Given the description of an element on the screen output the (x, y) to click on. 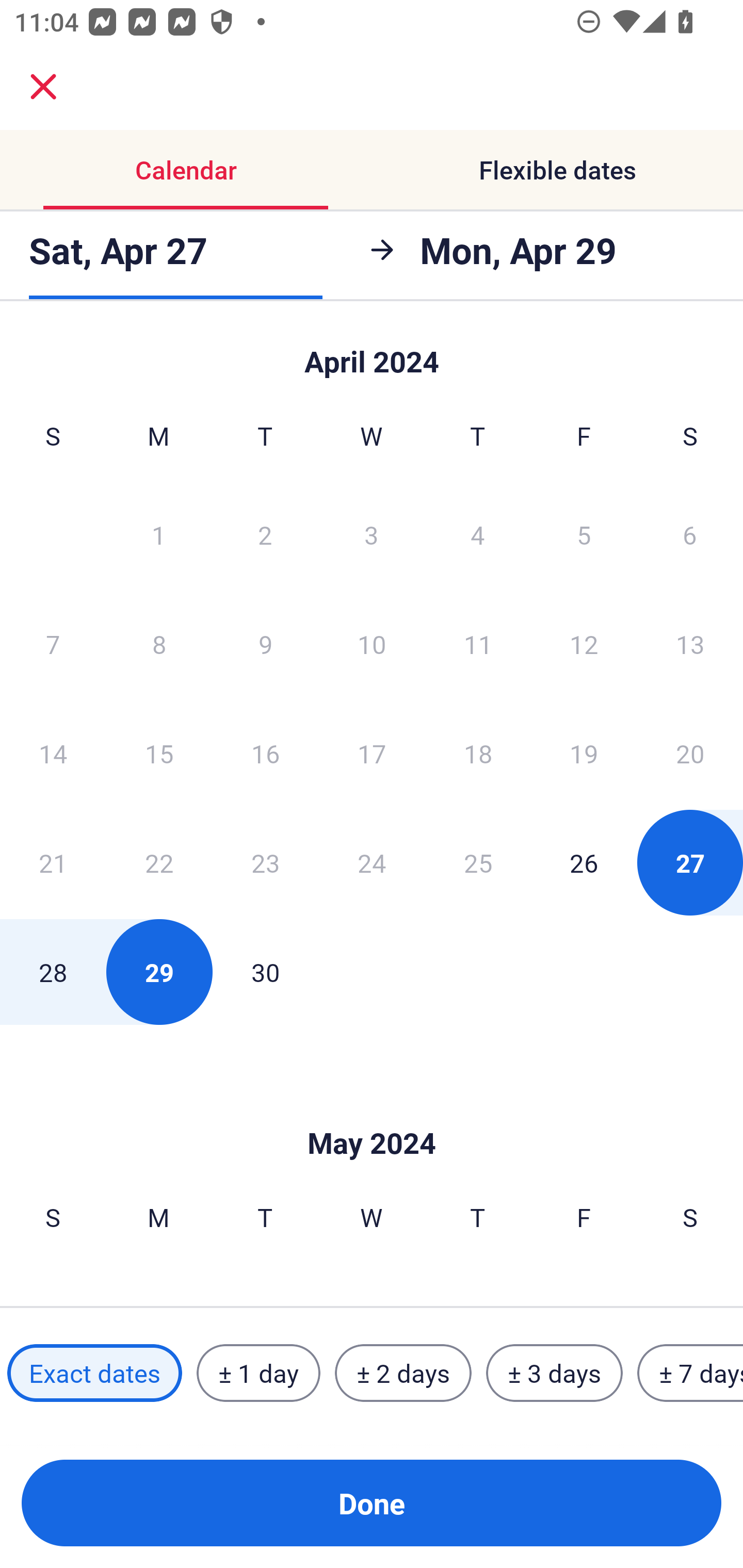
close. (43, 86)
Flexible dates (557, 170)
Skip to Done (371, 352)
1 Monday, April 1, 2024 (158, 534)
2 Tuesday, April 2, 2024 (264, 534)
3 Wednesday, April 3, 2024 (371, 534)
4 Thursday, April 4, 2024 (477, 534)
5 Friday, April 5, 2024 (583, 534)
6 Saturday, April 6, 2024 (689, 534)
7 Sunday, April 7, 2024 (53, 643)
8 Monday, April 8, 2024 (159, 643)
9 Tuesday, April 9, 2024 (265, 643)
10 Wednesday, April 10, 2024 (371, 643)
11 Thursday, April 11, 2024 (477, 643)
12 Friday, April 12, 2024 (584, 643)
13 Saturday, April 13, 2024 (690, 643)
14 Sunday, April 14, 2024 (53, 752)
15 Monday, April 15, 2024 (159, 752)
16 Tuesday, April 16, 2024 (265, 752)
17 Wednesday, April 17, 2024 (371, 752)
18 Thursday, April 18, 2024 (477, 752)
19 Friday, April 19, 2024 (584, 752)
20 Saturday, April 20, 2024 (690, 752)
21 Sunday, April 21, 2024 (53, 862)
22 Monday, April 22, 2024 (159, 862)
23 Tuesday, April 23, 2024 (265, 862)
24 Wednesday, April 24, 2024 (371, 862)
25 Thursday, April 25, 2024 (477, 862)
26 Friday, April 26, 2024 (584, 862)
30 Tuesday, April 30, 2024 (265, 971)
Skip to Done (371, 1112)
Exact dates (94, 1372)
± 1 day (258, 1372)
± 2 days (403, 1372)
± 3 days (553, 1372)
± 7 days (690, 1372)
Done (371, 1502)
